Given the description of an element on the screen output the (x, y) to click on. 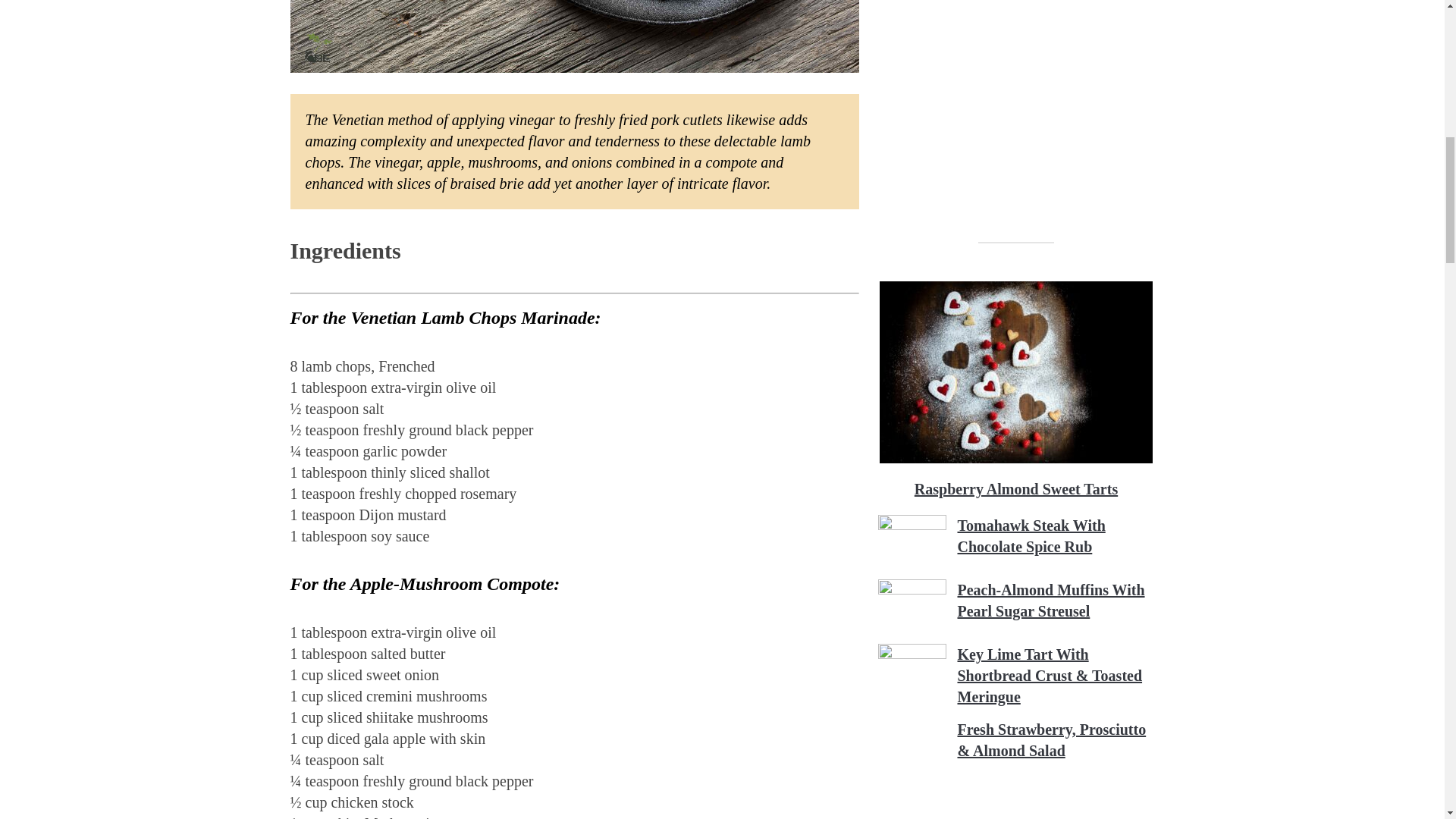
Peach-Almond Muffins with Pearl Sugar Streusel (1050, 600)
Raspberry Almond Sweet Tarts (1016, 488)
Raspberry Almond Sweet Tarts (1016, 290)
Tomahawk Steak with Chocolate Spice Rub (1030, 535)
